Given the description of an element on the screen output the (x, y) to click on. 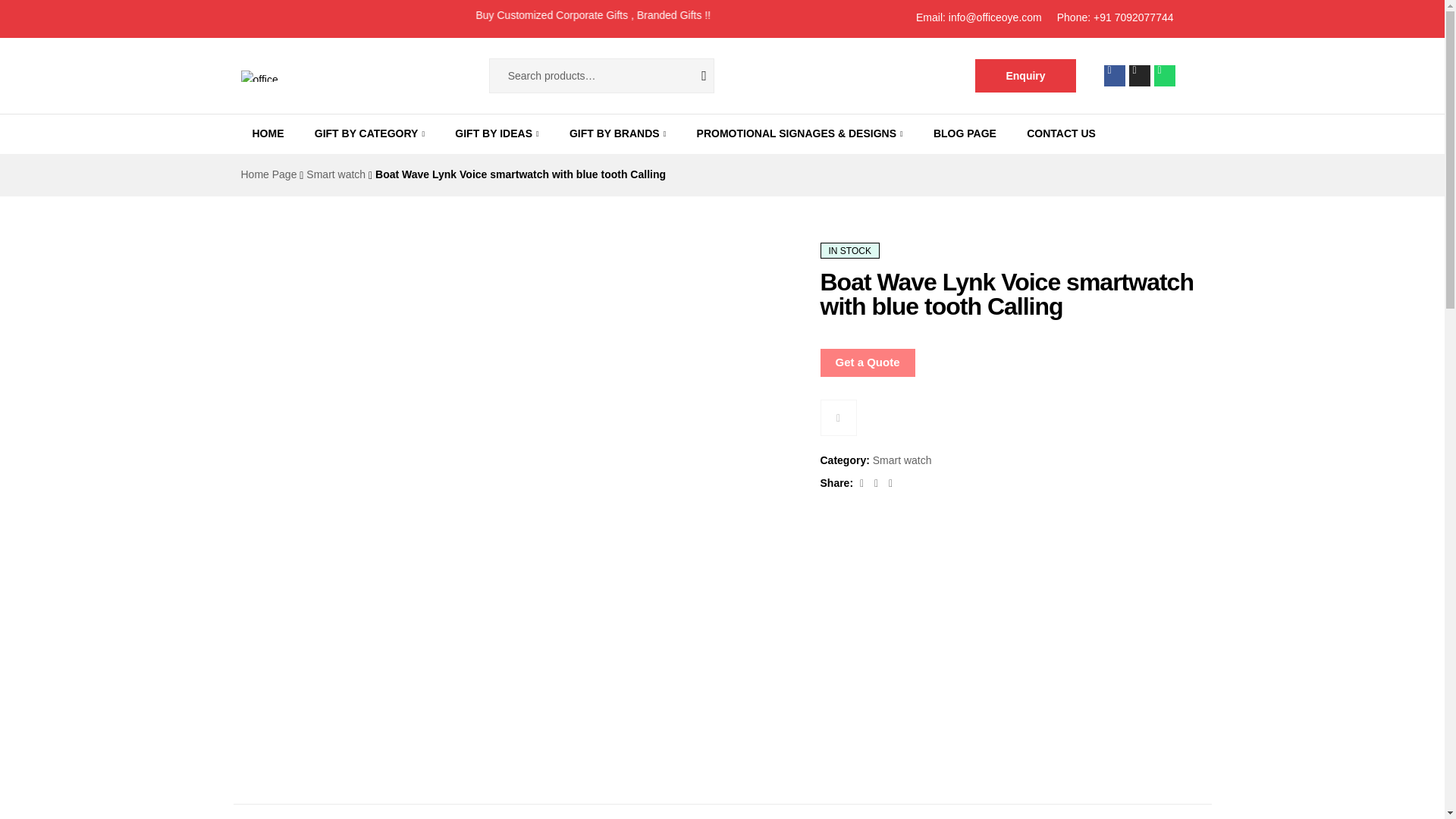
Share on facebook (863, 482)
Search (691, 75)
Email to a Friend (890, 482)
GIFT BY CATEGORY (370, 133)
HOME (267, 133)
Share on Twitter (877, 482)
Enquiry (1025, 75)
